Given the description of an element on the screen output the (x, y) to click on. 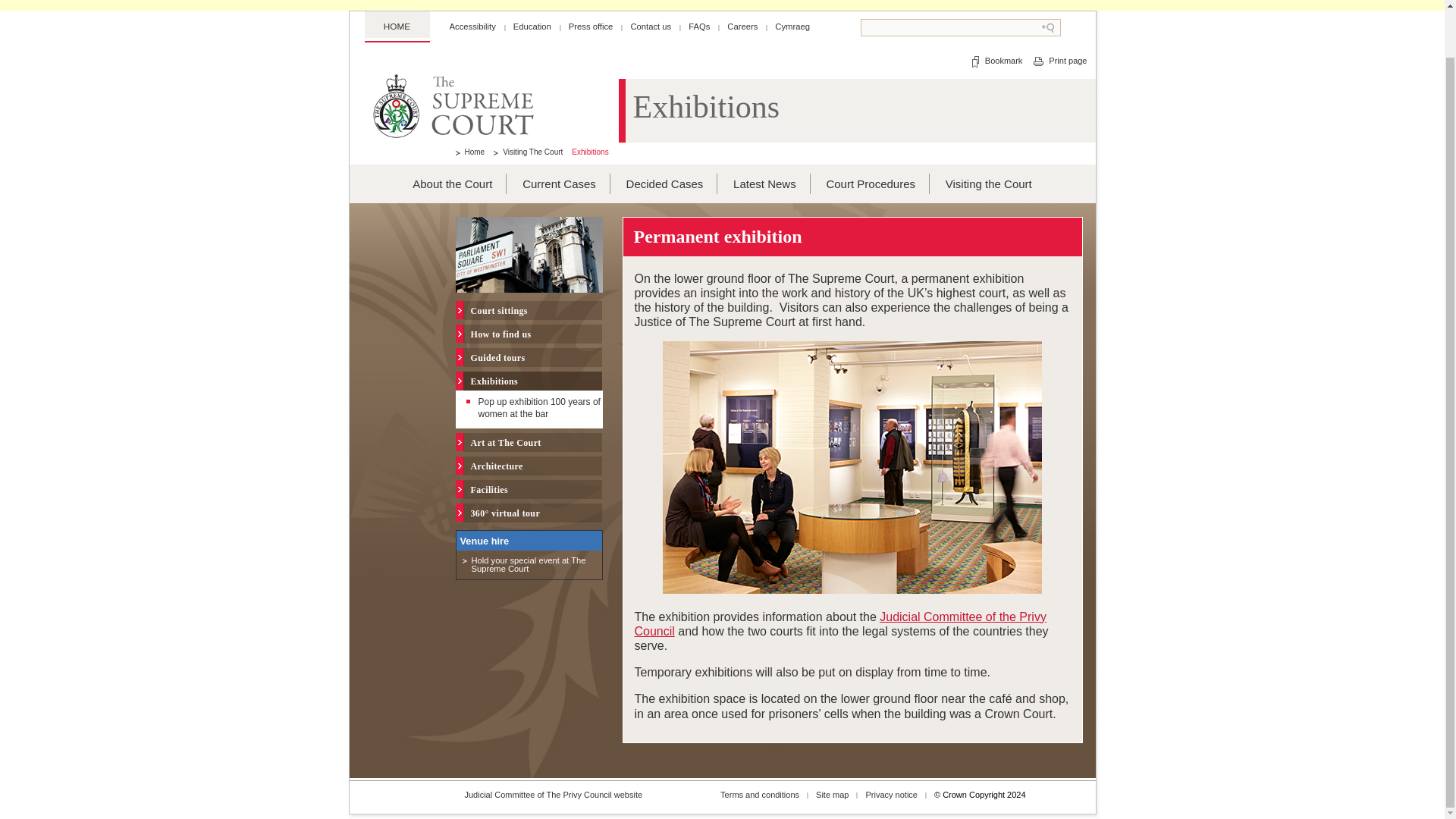
visit the JCPC website (839, 624)
Cymraeg (791, 26)
Go to the Supreme Court homepage (483, 108)
Latest News (764, 183)
Decided Cases (664, 183)
Visiting The Court (527, 151)
 HOME (396, 24)
Visiting the Court (988, 183)
Current Cases (558, 183)
Home (469, 151)
PDF - Opens new window (529, 564)
About the Court (451, 183)
Accessibility (471, 26)
Print page (1058, 61)
